Given the description of an element on the screen output the (x, y) to click on. 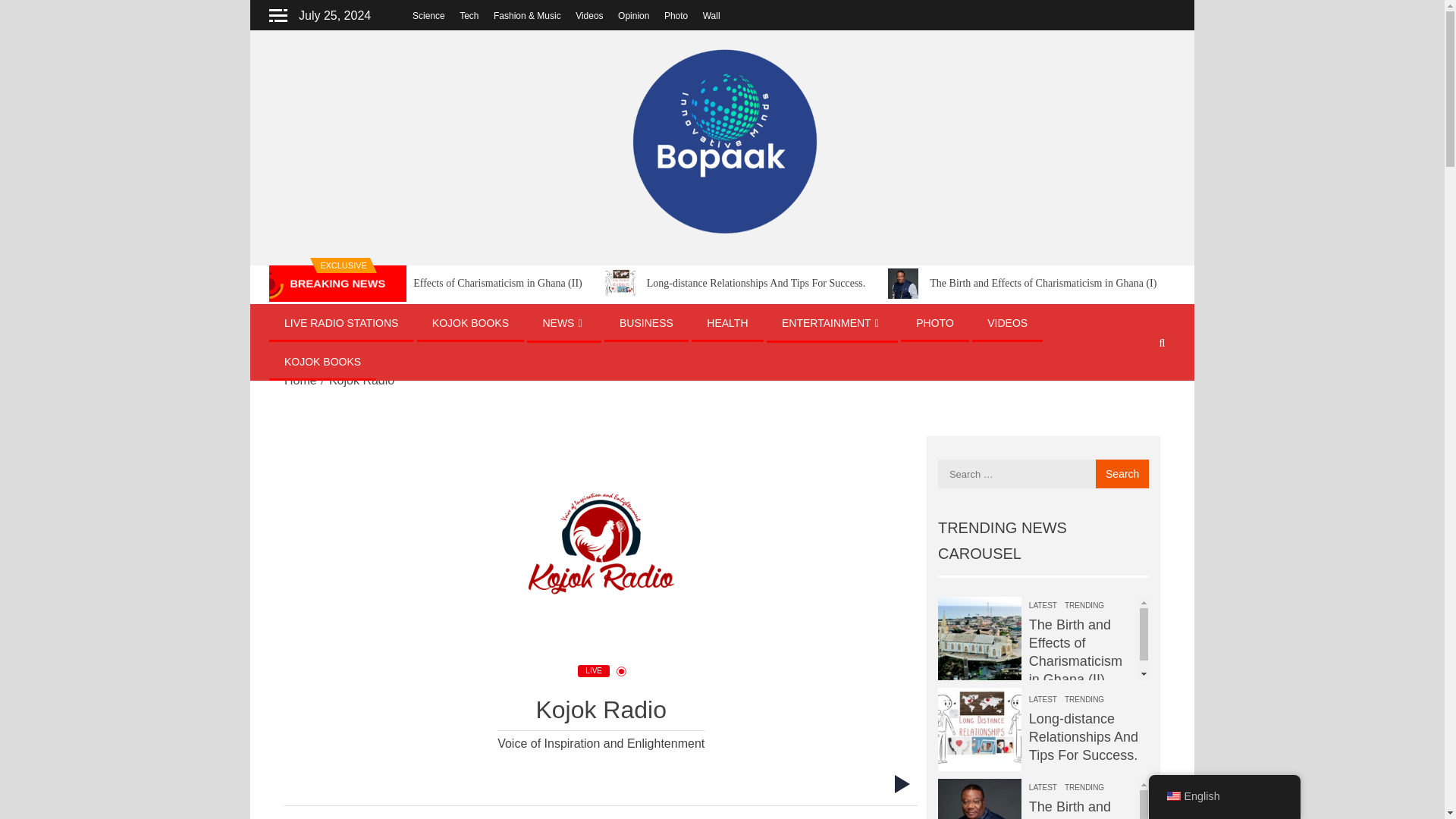
Opinion (633, 15)
Science (428, 15)
Long-distance Relationships And Tips For Success. (830, 283)
HEALTH (727, 322)
NEWS (563, 322)
Wall (711, 15)
Search (1122, 473)
Videos (588, 15)
Photo (675, 15)
KOJOK BOOKS (470, 322)
ENTERTAINMENT (831, 322)
BUSINESS (646, 322)
Search (1122, 473)
Kojok Radio (601, 549)
Tech (469, 15)
